Given the description of an element on the screen output the (x, y) to click on. 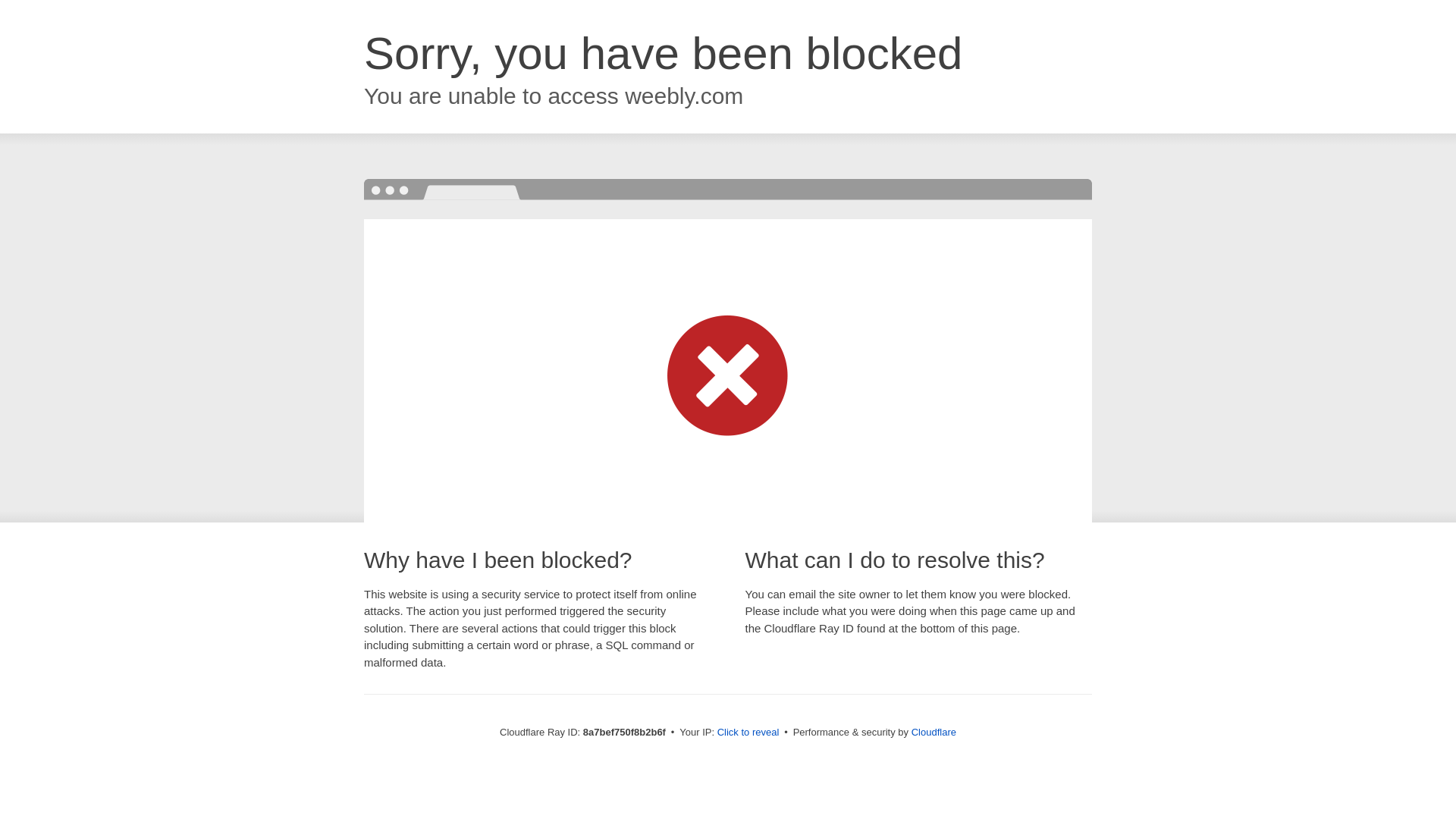
Cloudflare (933, 731)
Click to reveal (747, 732)
